Given the description of an element on the screen output the (x, y) to click on. 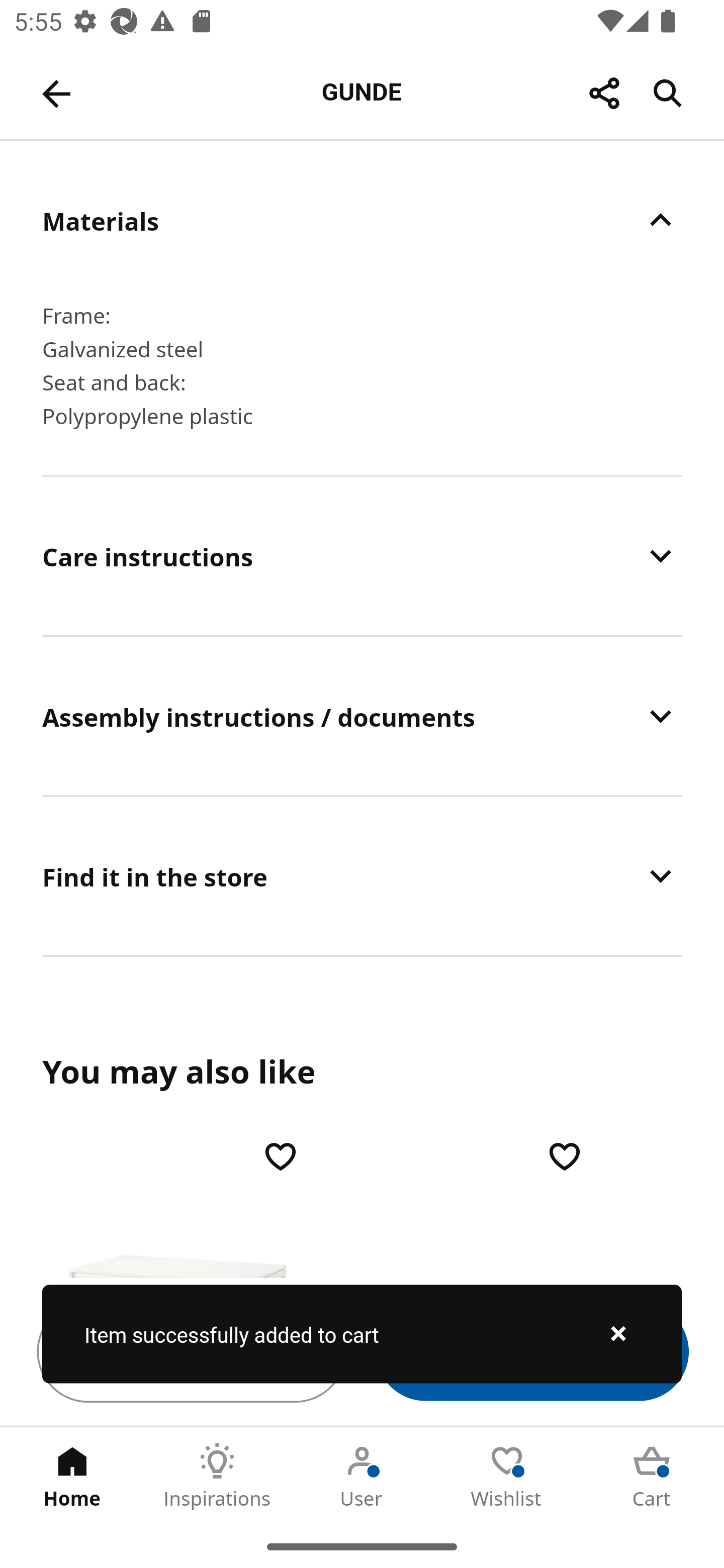
Materials (361, 219)
Care instructions (361, 555)
Assembly instructions / documents (361, 715)
Find it in the store (361, 875)
Item successfully added to cart (361, 1333)
Home
Tab 1 of 5 (72, 1476)
Inspirations
Tab 2 of 5 (216, 1476)
User
Tab 3 of 5 (361, 1476)
Wishlist
Tab 4 of 5 (506, 1476)
Cart
Tab 5 of 5 (651, 1476)
